Given the description of an element on the screen output the (x, y) to click on. 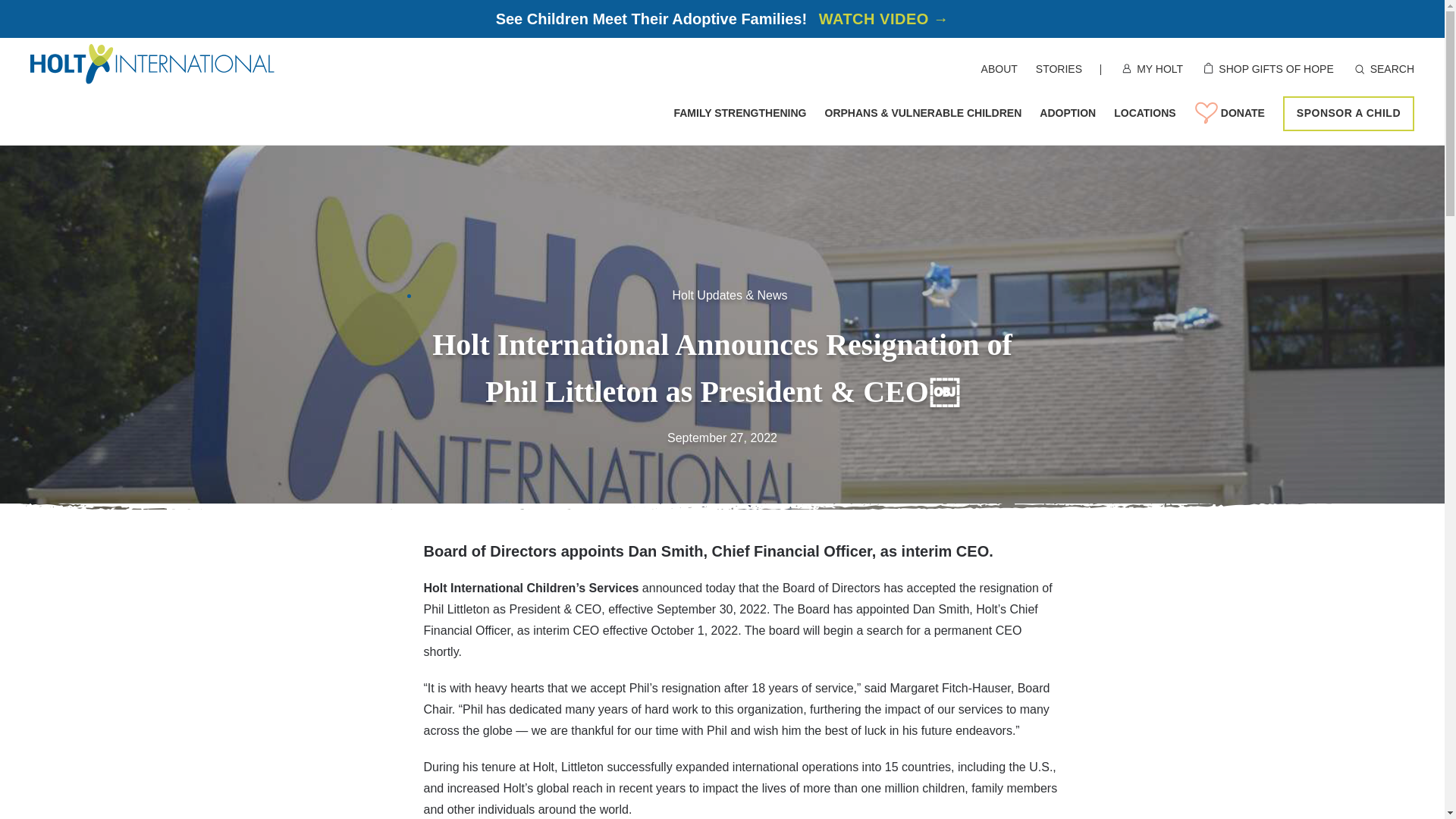
ABOUT (999, 69)
STORIES (1058, 69)
Holt International Homepage (152, 64)
FAMILY STRENGTHENING (739, 114)
MY HOLT (1159, 69)
SHOP GIFTS OF HOPE (1275, 69)
